Given the description of an element on the screen output the (x, y) to click on. 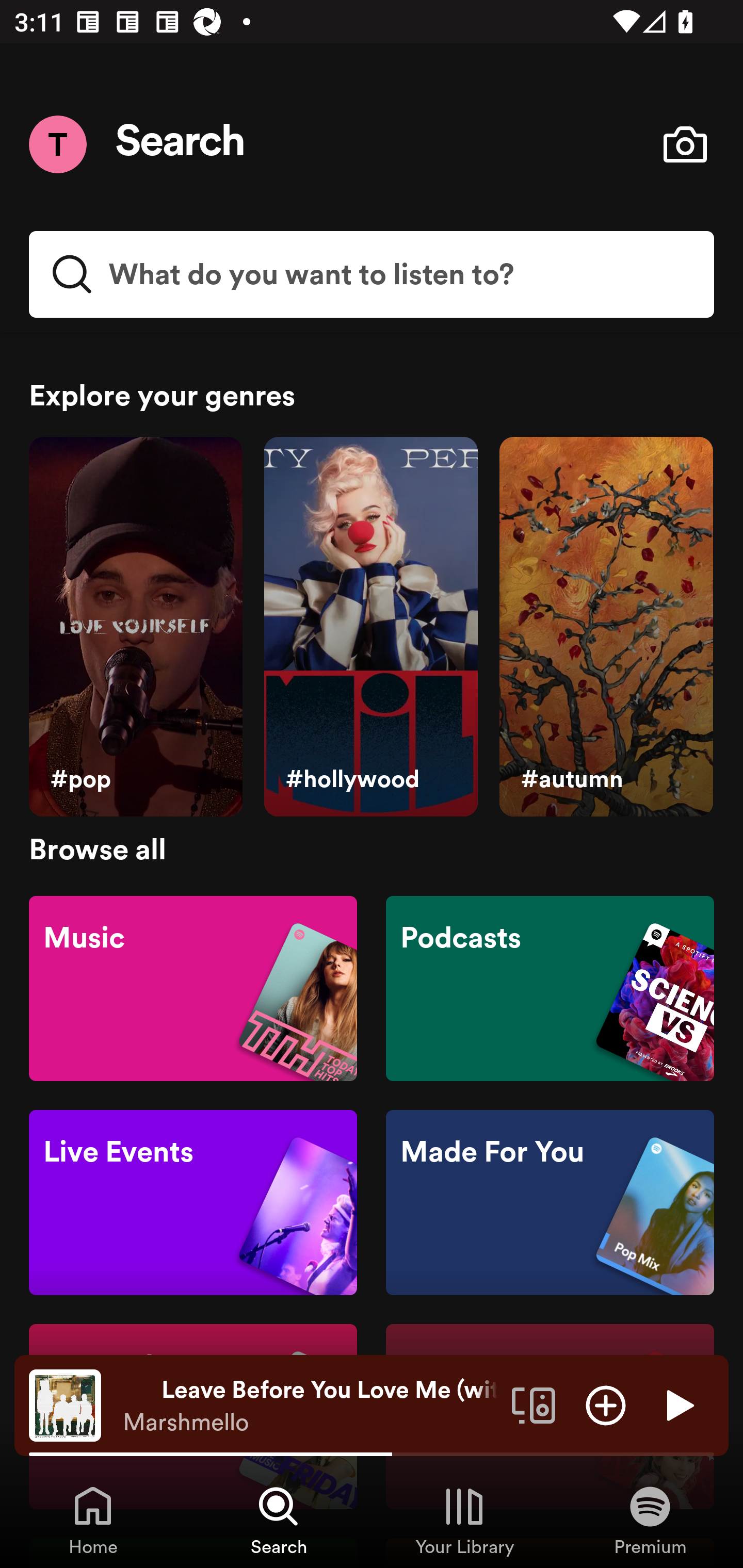
Menu (57, 144)
Open camera (685, 145)
Search (180, 144)
#pop (135, 626)
#hollywood (370, 626)
#autumn (606, 626)
Music (192, 987)
Podcasts (549, 987)
Live Events (192, 1202)
Made For You (549, 1202)
The cover art of the currently playing track (64, 1404)
Connect to a device. Opens the devices menu (533, 1404)
Add item (605, 1404)
Play (677, 1404)
Home, Tab 1 of 4 Home Home (92, 1519)
Search, Tab 2 of 4 Search Search (278, 1519)
Your Library, Tab 3 of 4 Your Library Your Library (464, 1519)
